Given the description of an element on the screen output the (x, y) to click on. 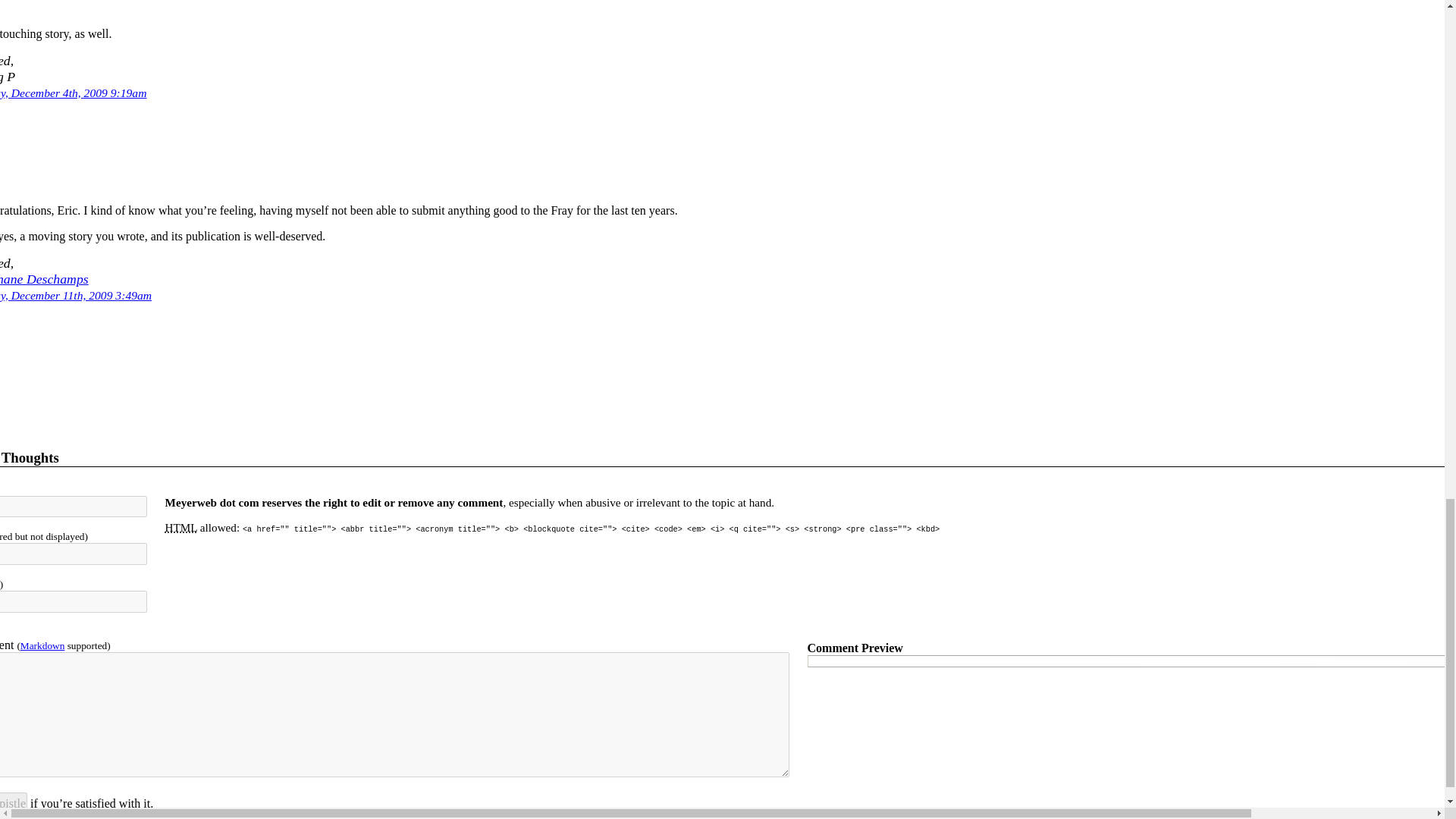
Markdown (42, 645)
Post your e-pistle (13, 802)
Friday, December 11th, 2009 3:49am (75, 294)
Friday, December 4th, 2009 9:19am (73, 92)
Post your e-pistle (13, 802)
Hypertext Markup Language (180, 526)
